Given the description of an element on the screen output the (x, y) to click on. 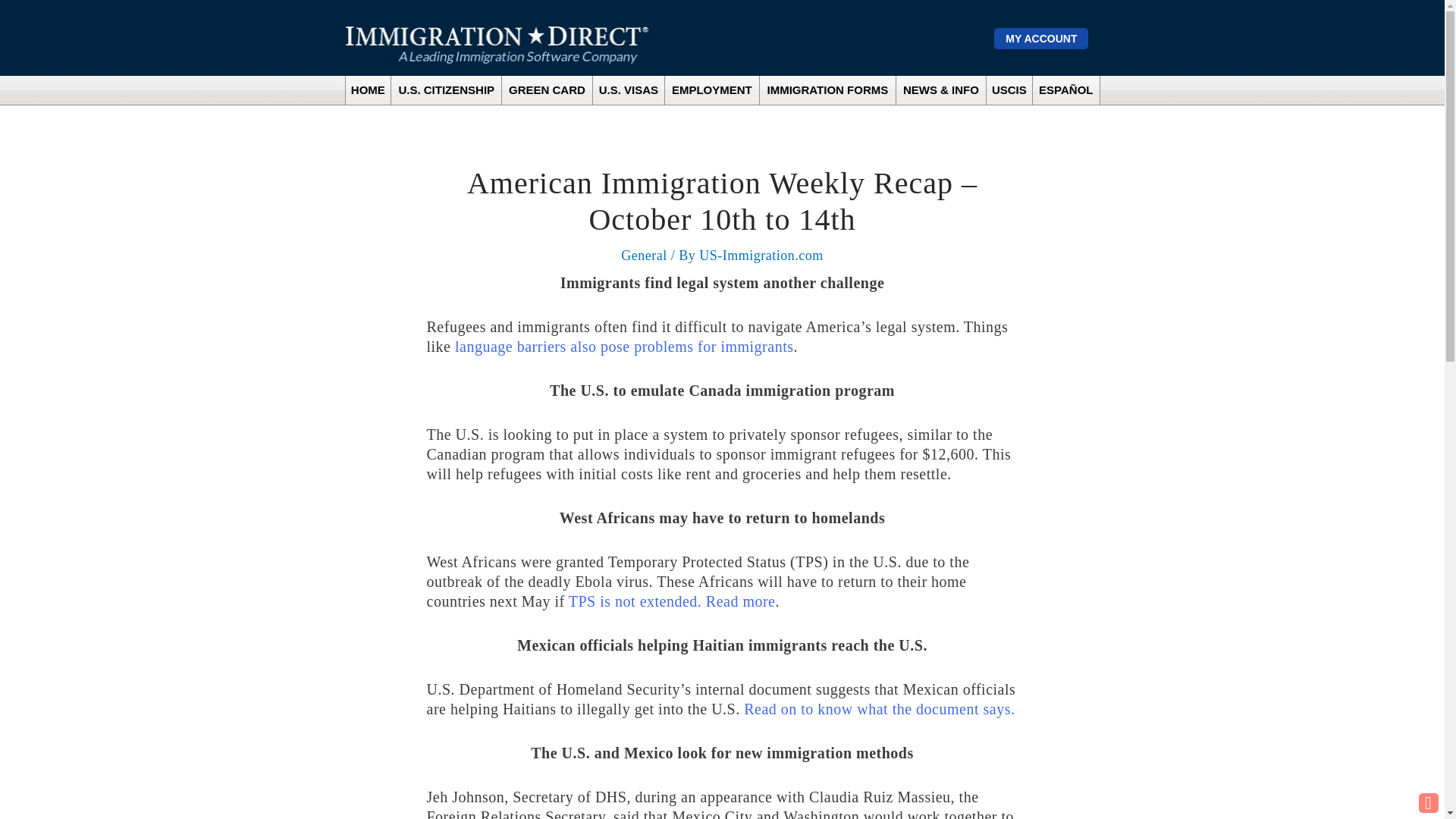
U.S. CITIZENSHIP (445, 90)
American Immigration (496, 44)
View all posts by US-Immigration.com (760, 255)
GREEN CARD (546, 90)
U.S. VISAS (628, 90)
MY ACCOUNT (1040, 38)
HOME (368, 90)
